Given the description of an element on the screen output the (x, y) to click on. 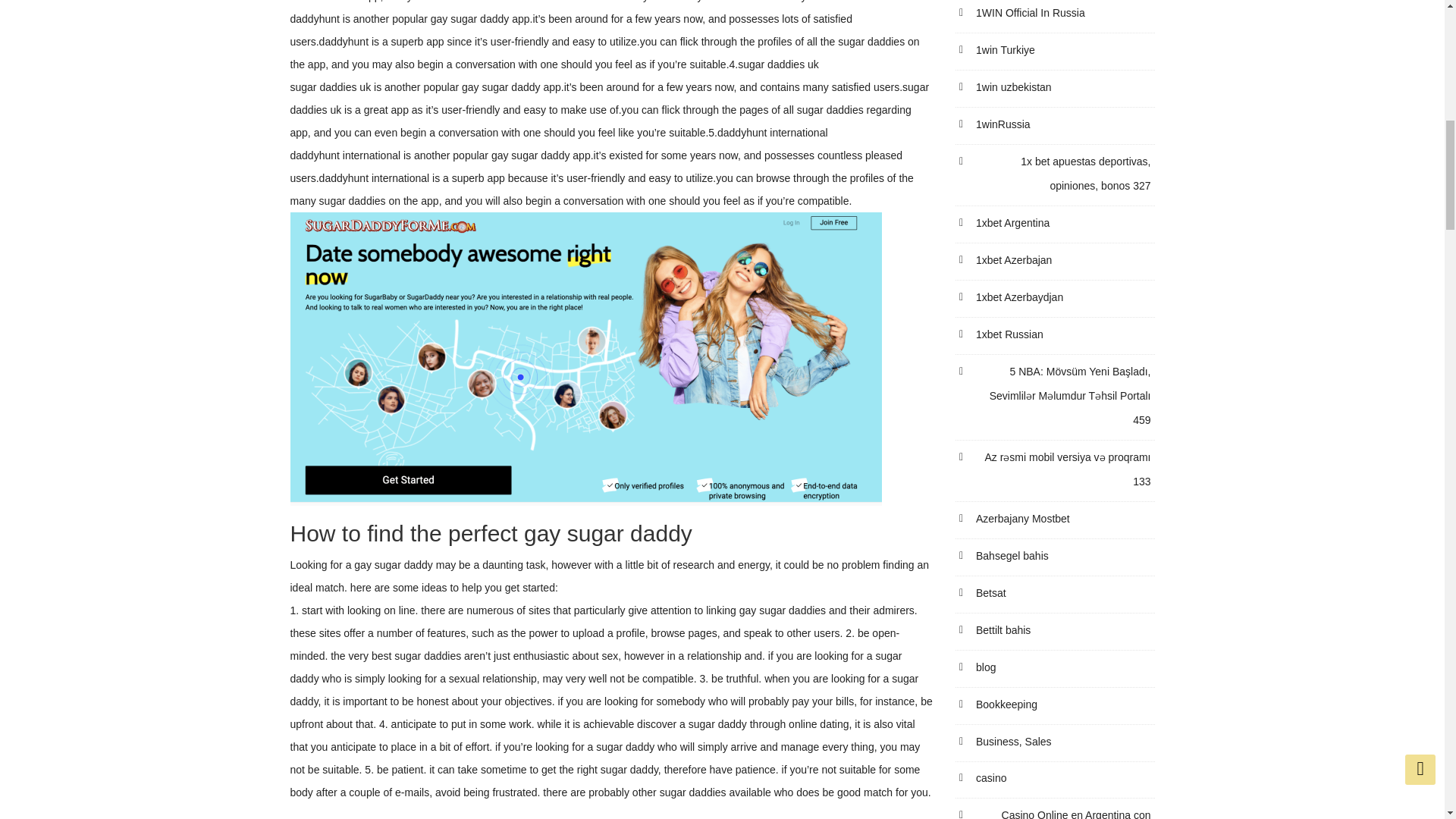
1x bet apuestas deportivas, opiniones, bonos 327 (1055, 173)
1winRussia (994, 124)
1WIN Official In Russia (1021, 12)
Azerbajany Mostbet (1014, 518)
Bahsegel bahis (1003, 555)
1xbet Azerbaydjan (1010, 297)
1xbet Azerbajan (1005, 259)
1xbet Argentina (1004, 222)
1win uzbekistan (1005, 87)
1xbet Russian (1001, 334)
